Given the description of an element on the screen output the (x, y) to click on. 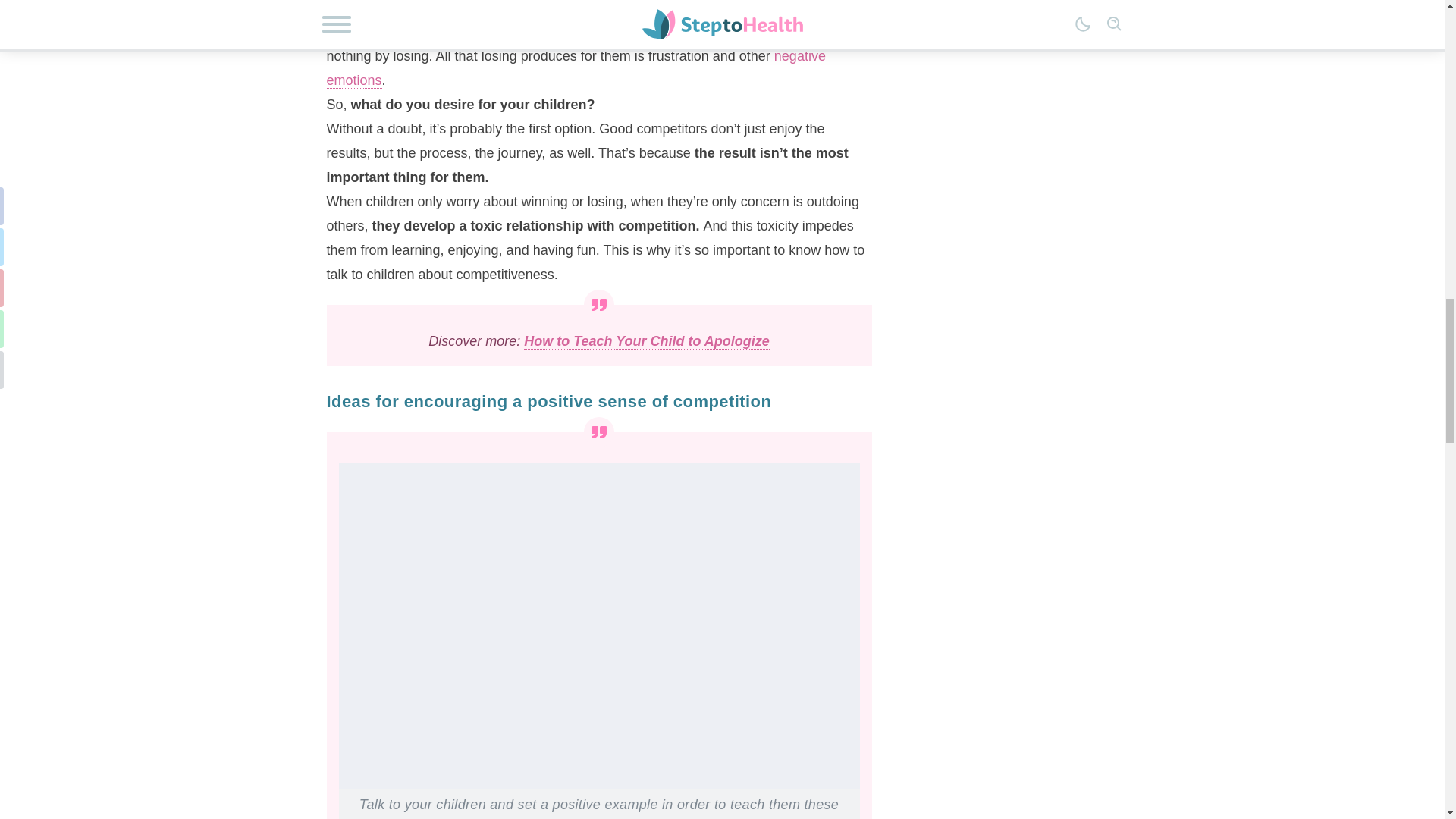
How to Teach Your Child to Apologize (647, 341)
negative emotions (575, 68)
